Given the description of an element on the screen output the (x, y) to click on. 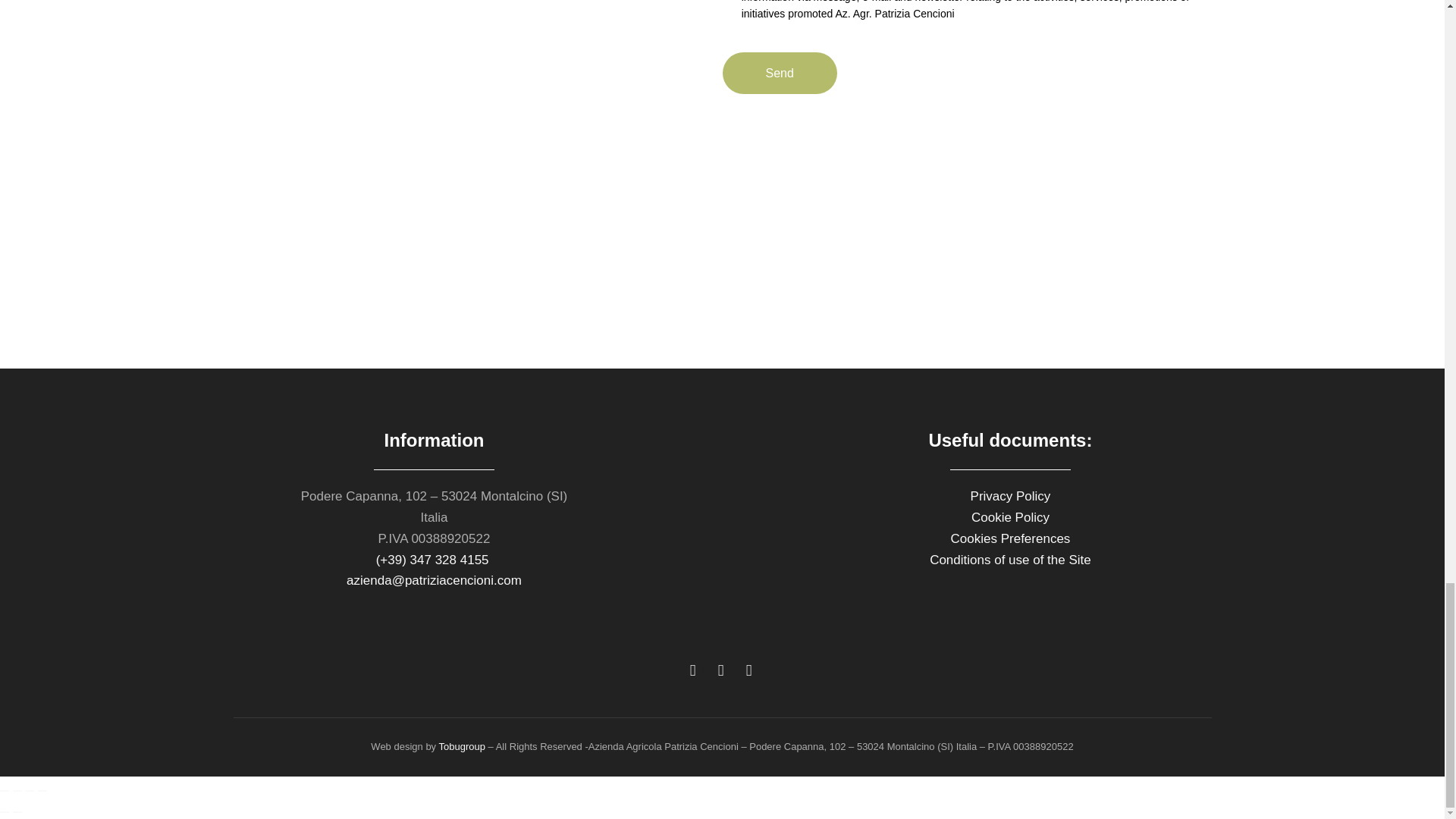
Send (778, 73)
Send (778, 73)
